Given the description of an element on the screen output the (x, y) to click on. 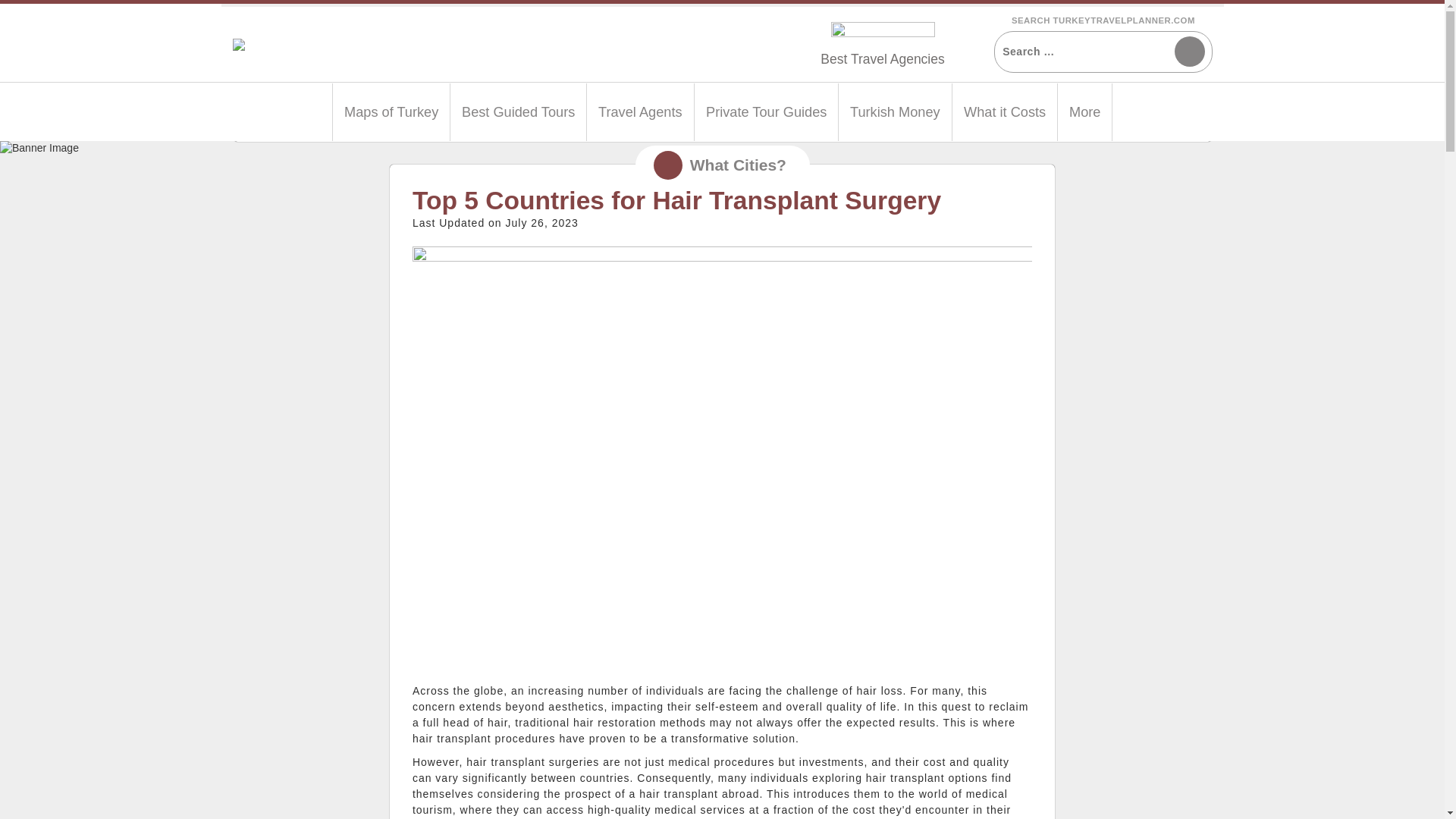
Private Tour Guides (766, 112)
Search (1188, 51)
Best Guided Tours (518, 112)
Search (1188, 51)
More (1084, 112)
Best Travel Agencies (882, 58)
Turkish Money (895, 112)
Search (1188, 51)
Maps of Turkey (390, 112)
Travel Agents (640, 112)
